Given the description of an element on the screen output the (x, y) to click on. 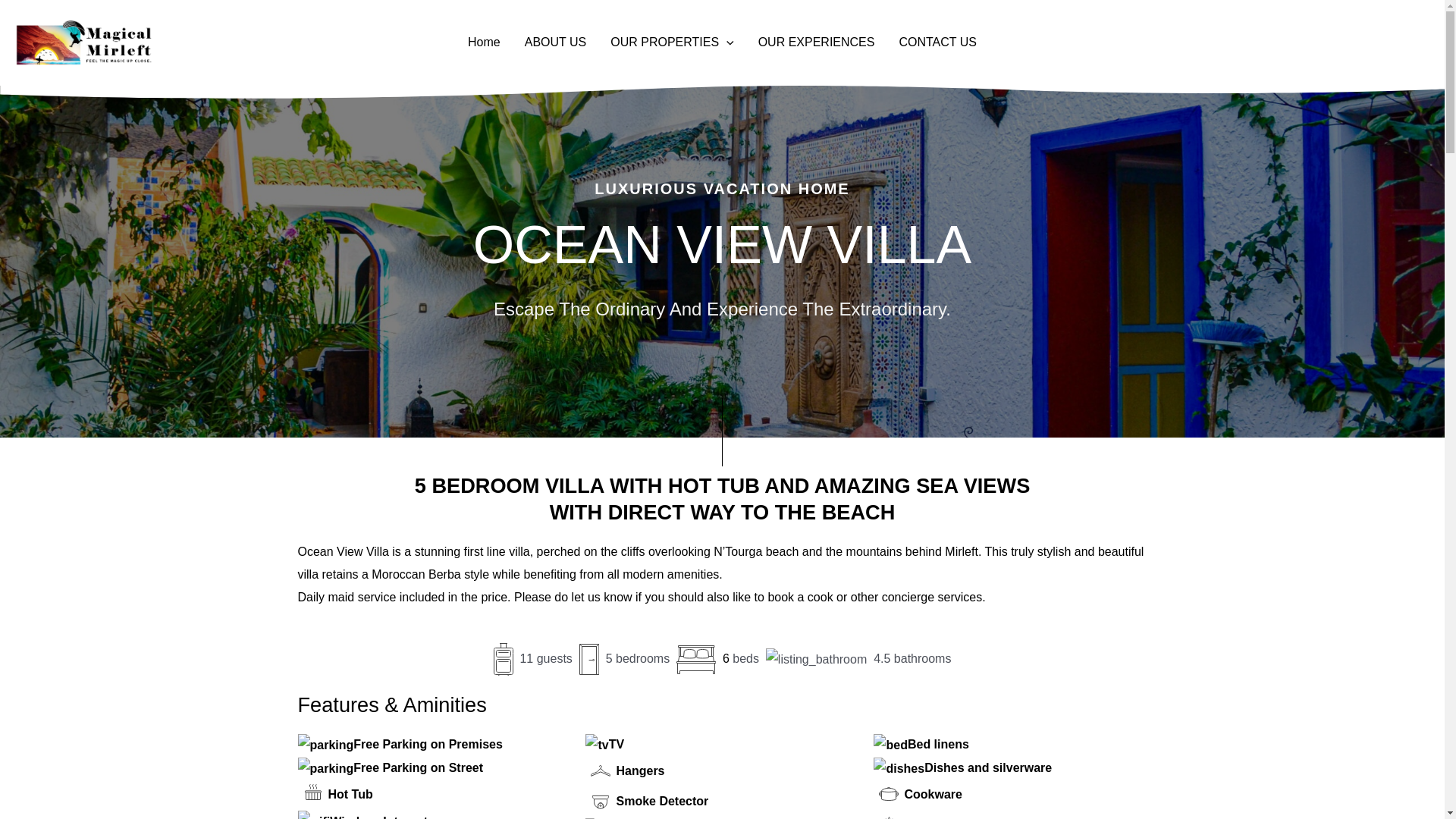
CONTACT US (937, 41)
Home (483, 41)
OUR EXPERIENCES (815, 41)
ABOUT US (555, 41)
OUR PROPERTIES (671, 41)
